Given the description of an element on the screen output the (x, y) to click on. 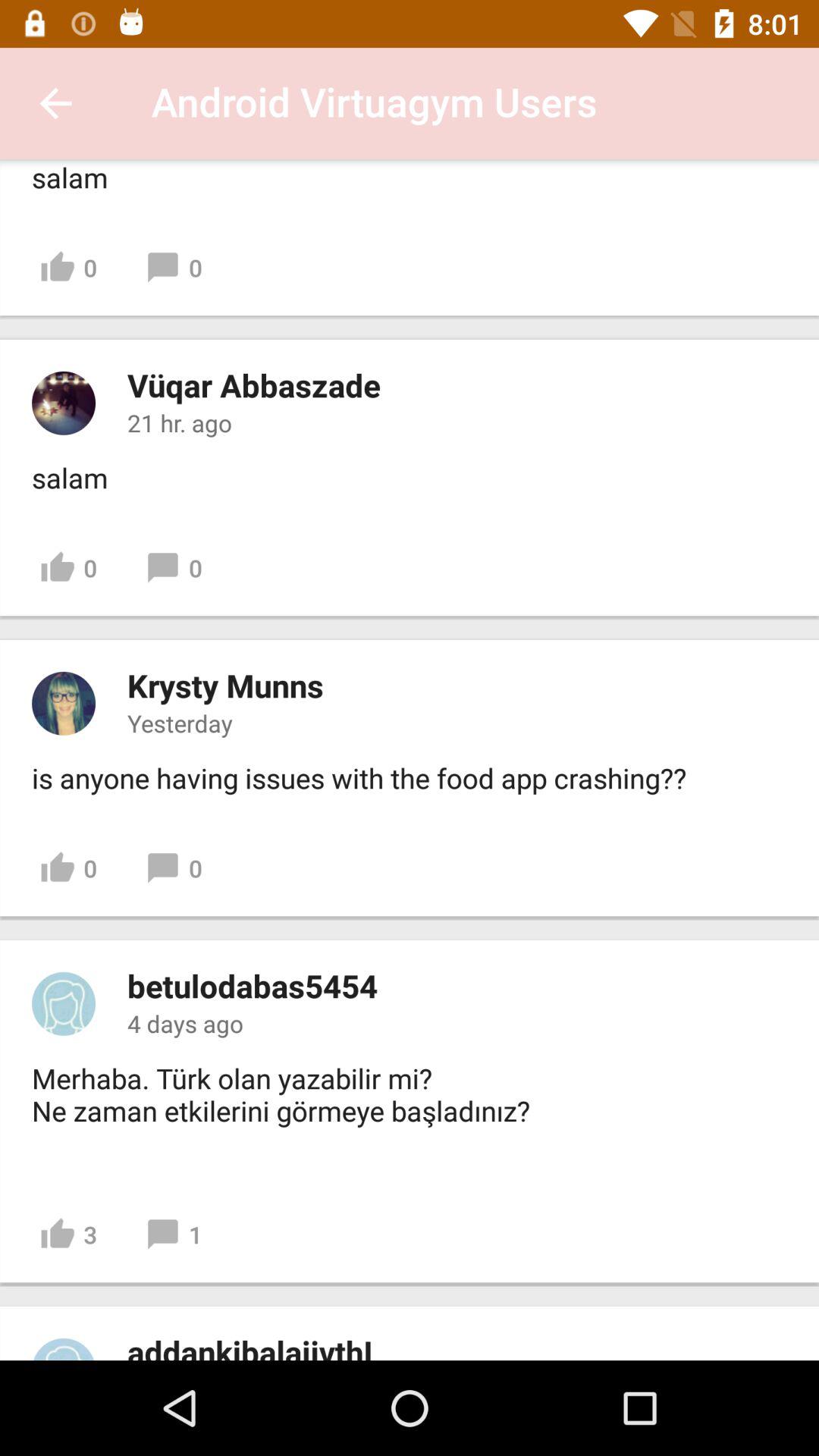
swipe to is anyone having icon (358, 777)
